Given the description of an element on the screen output the (x, y) to click on. 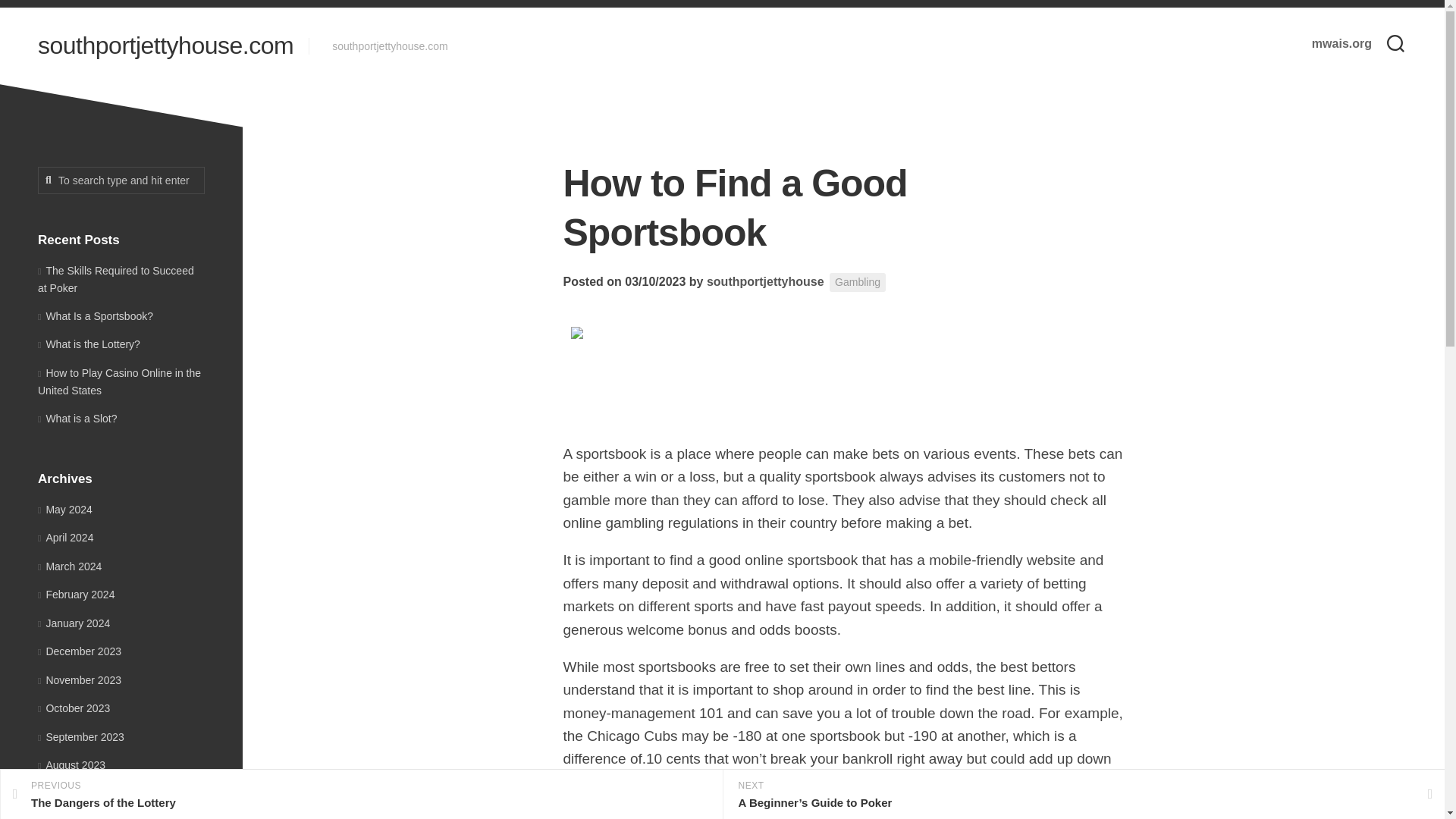
October 2023 (73, 707)
July 2023 (63, 793)
southportjettyhouse (765, 281)
April 2024 (65, 537)
How to Play Casino Online in the United States (361, 794)
What Is a Sportsbook? (118, 381)
The Skills Required to Succeed at Poker (94, 315)
June 2023 (115, 278)
To search type and hit enter (66, 817)
To search type and hit enter (121, 180)
January 2024 (121, 180)
February 2024 (73, 623)
What is the Lottery? (76, 594)
What is a Slot? (88, 344)
